Given the description of an element on the screen output the (x, y) to click on. 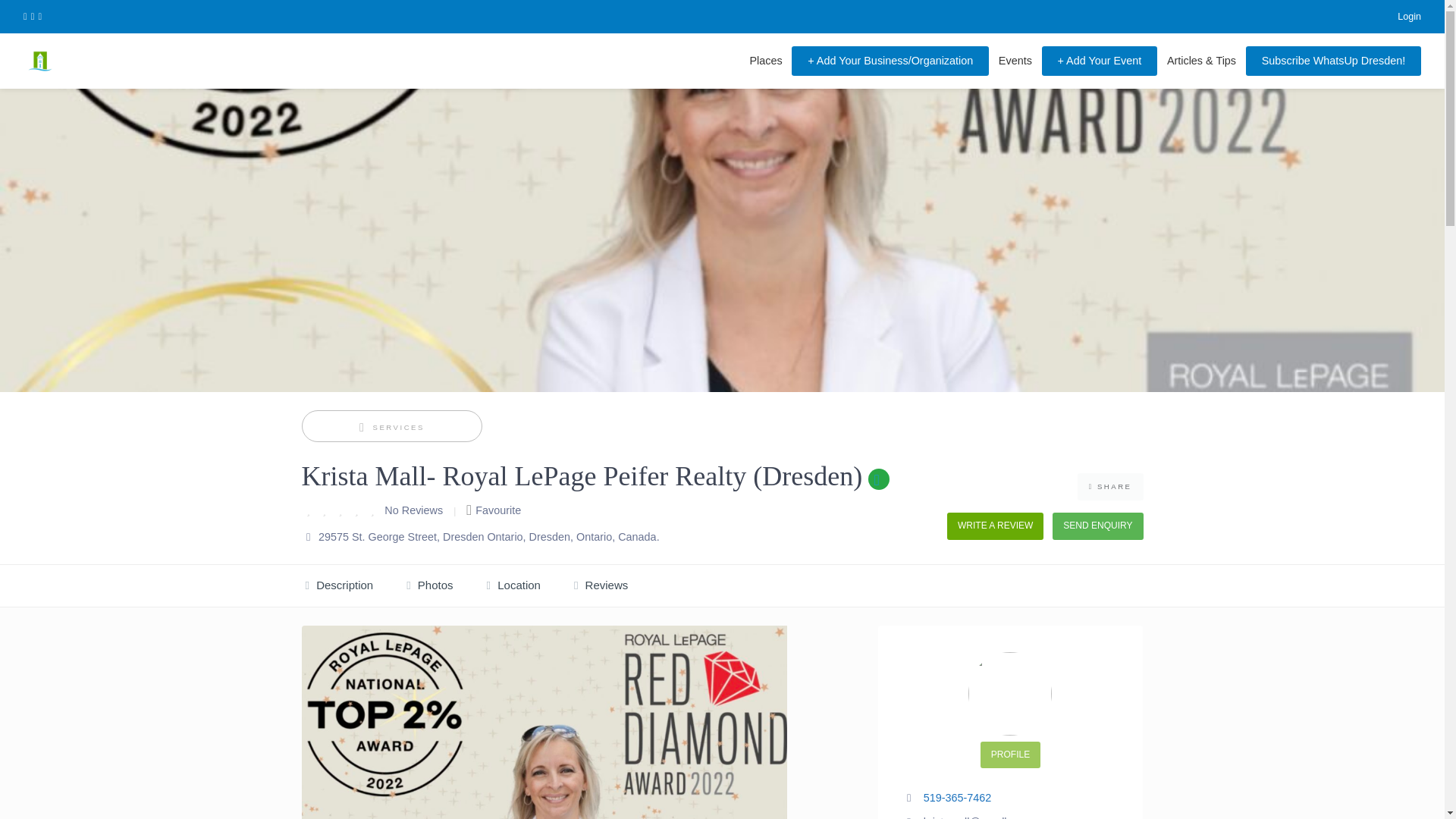
SERVICES (392, 427)
Login (1399, 16)
Places (765, 60)
WRITE A REVIEW (995, 525)
Reviews (600, 586)
No rating yet! (341, 510)
Description (339, 586)
Login (1399, 16)
Location (513, 586)
Verified (878, 478)
